Given the description of an element on the screen output the (x, y) to click on. 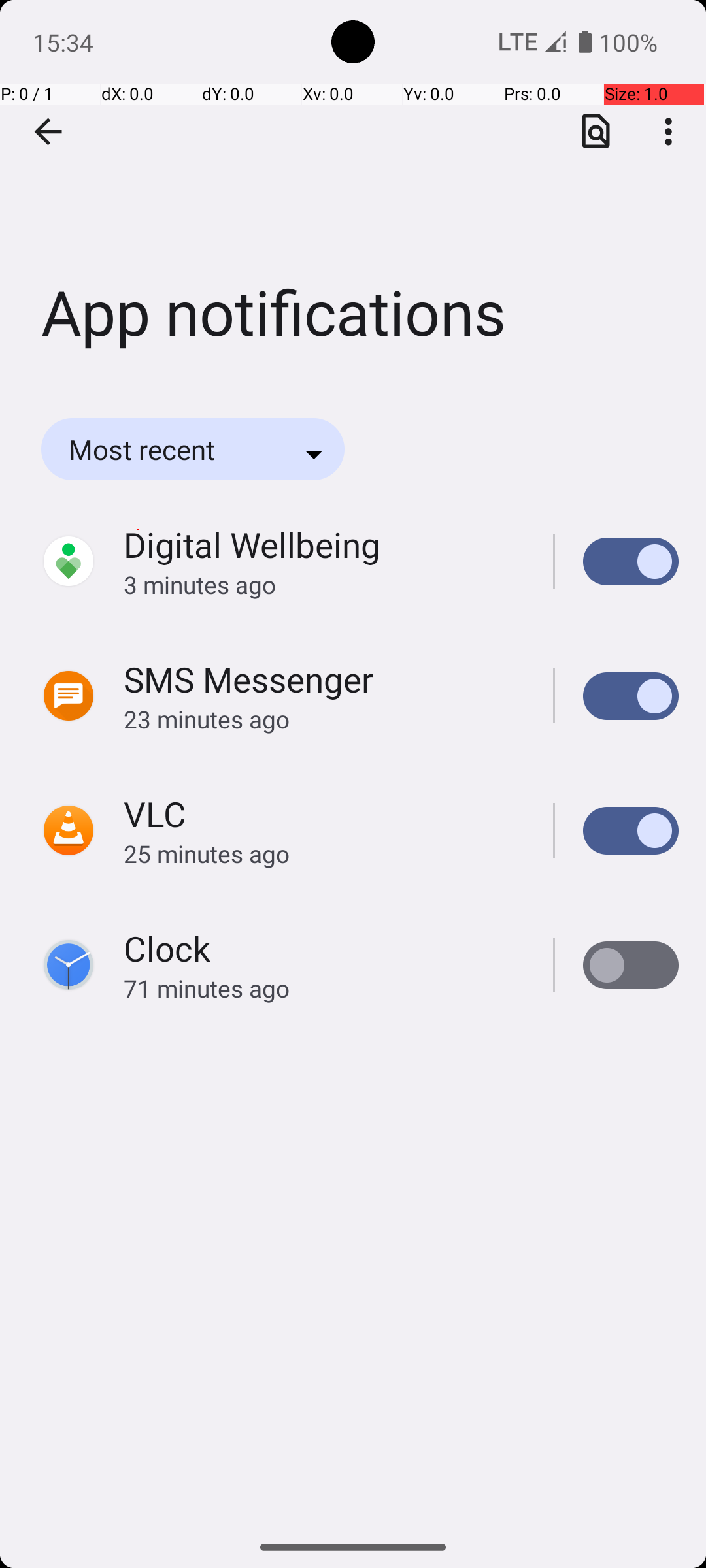
App notifications Element type: android.widget.FrameLayout (353, 195)
Most recent Element type: android.widget.TextView (159, 448)
3 minutes ago Element type: android.widget.TextView (324, 584)
23 minutes ago Element type: android.widget.TextView (324, 718)
25 minutes ago Element type: android.widget.TextView (324, 853)
71 minutes ago Element type: android.widget.TextView (324, 987)
